Given the description of an element on the screen output the (x, y) to click on. 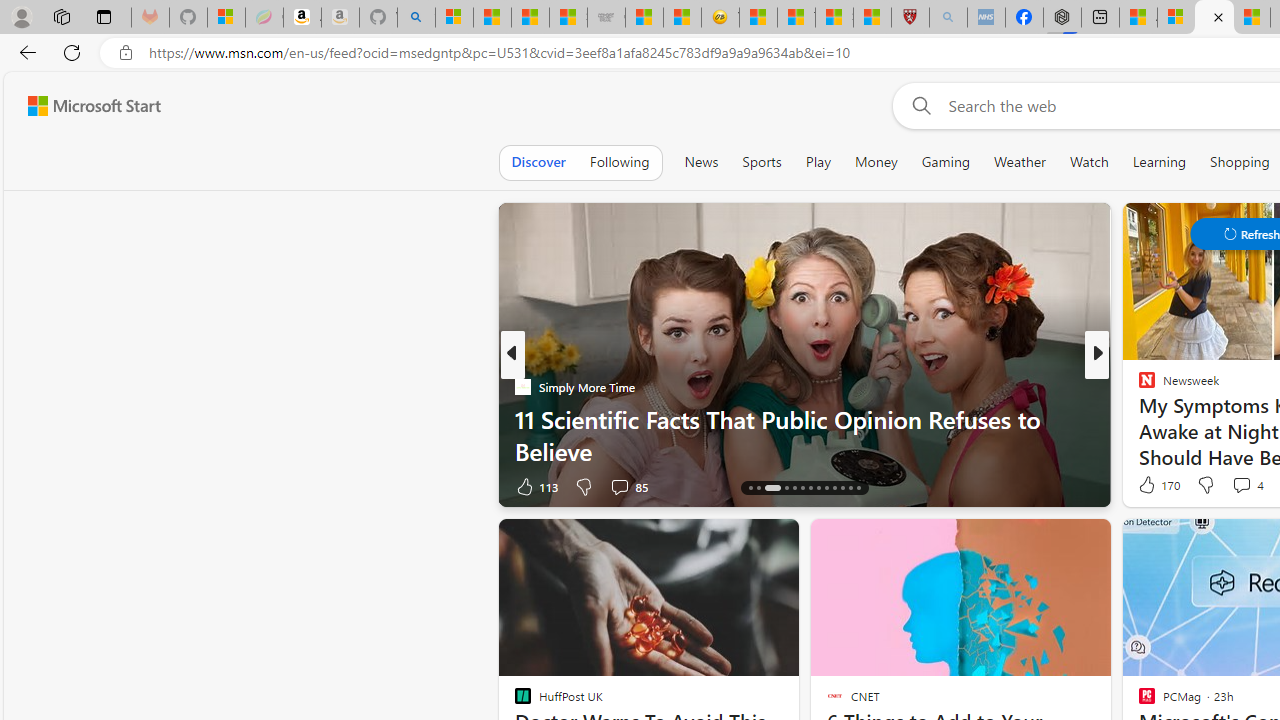
View comments 73 Comment (1234, 485)
View comments 42 Comment (1234, 485)
104 Like (1151, 486)
AutomationID: tab-26 (857, 487)
121 Like (1151, 486)
